Given the description of an element on the screen output the (x, y) to click on. 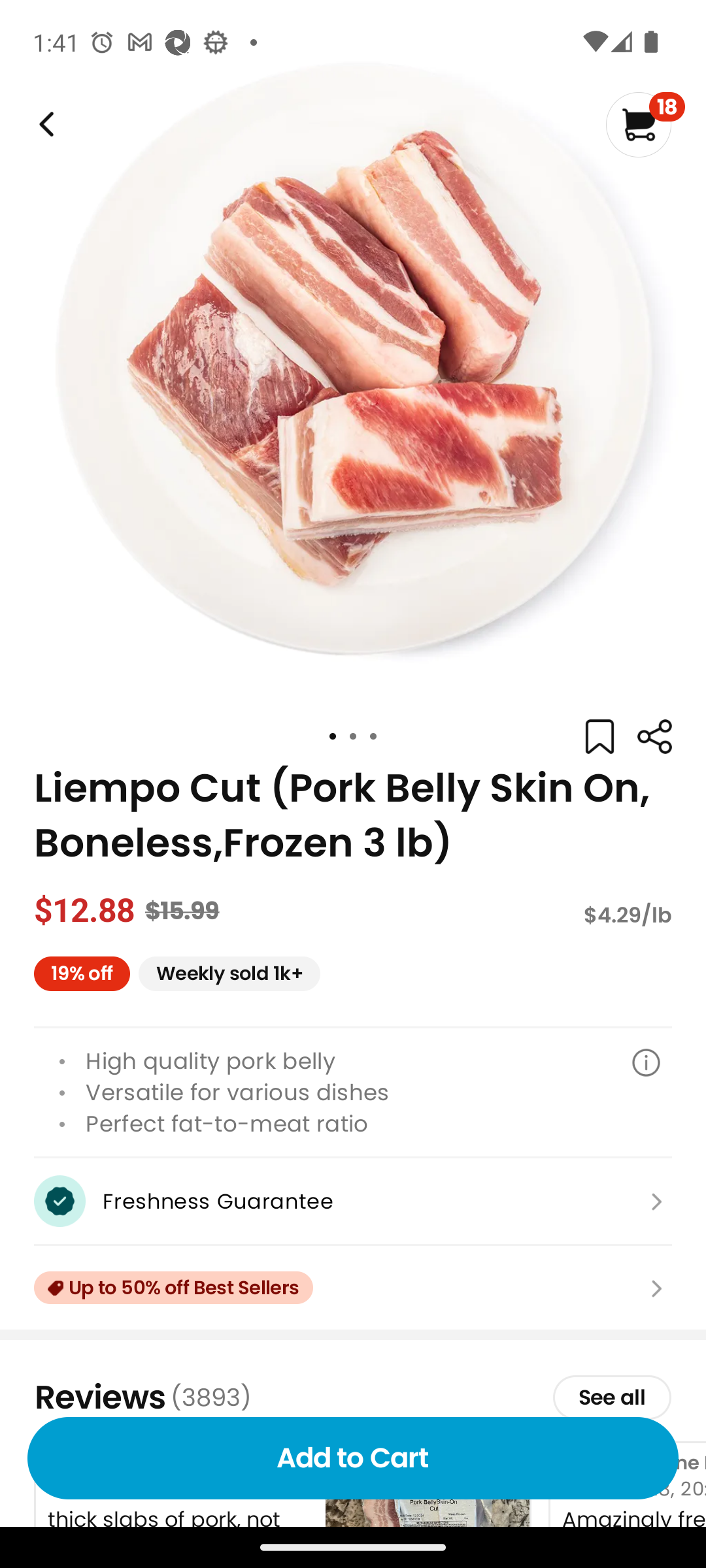
18 (644, 124)
Weee! (45, 124)
Weee! (653, 736)
Freshness Guarantee (352, 1200)
Up to 50% off Best Sellers (352, 1287)
Reviews (3893) See all (353, 1397)
Add to Cart (352, 1458)
